Given the description of an element on the screen output the (x, y) to click on. 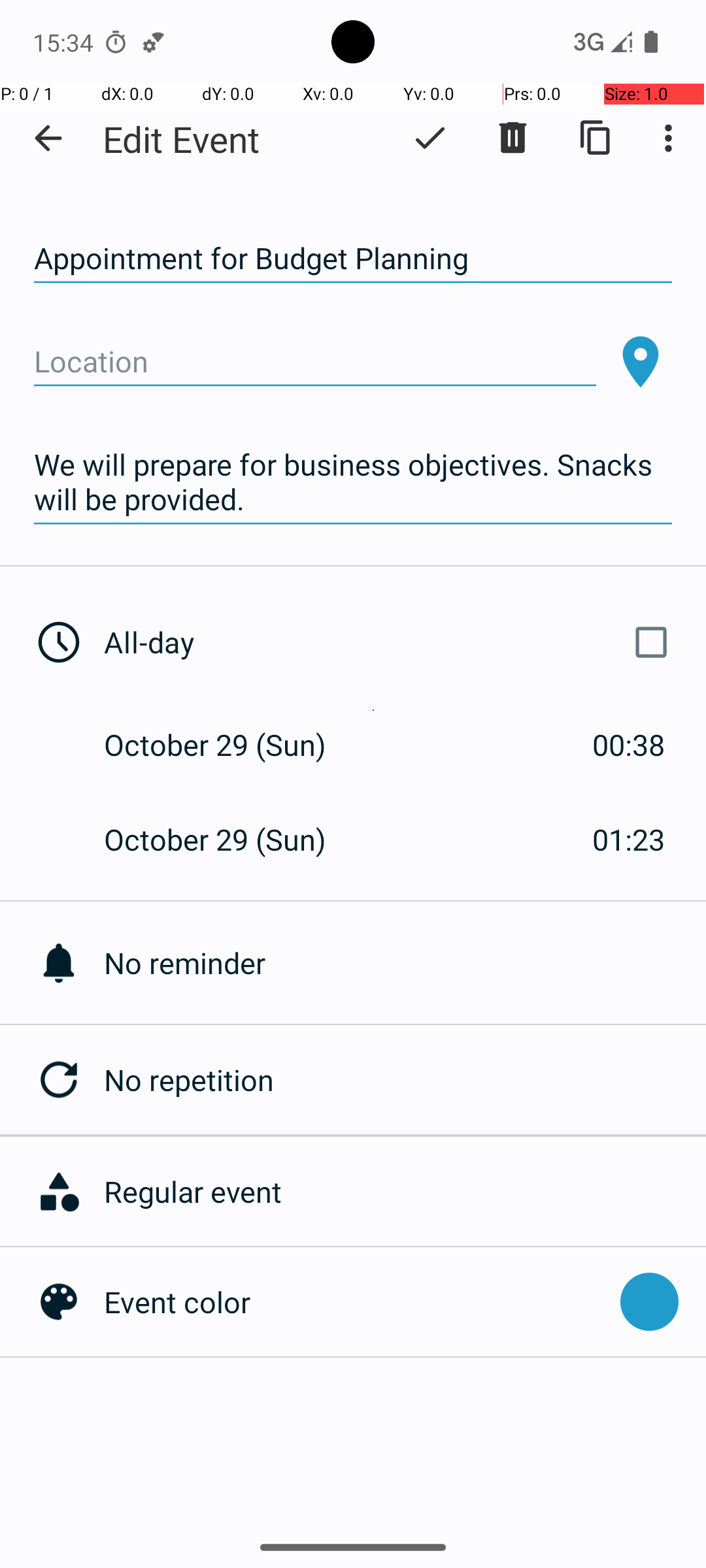
We will prepare for business objectives. Snacks will be provided. Element type: android.widget.EditText (352, 482)
October 29 (Sun) Element type: android.widget.TextView (228, 744)
00:38 Element type: android.widget.TextView (628, 744)
01:23 Element type: android.widget.TextView (628, 838)
